Given the description of an element on the screen output the (x, y) to click on. 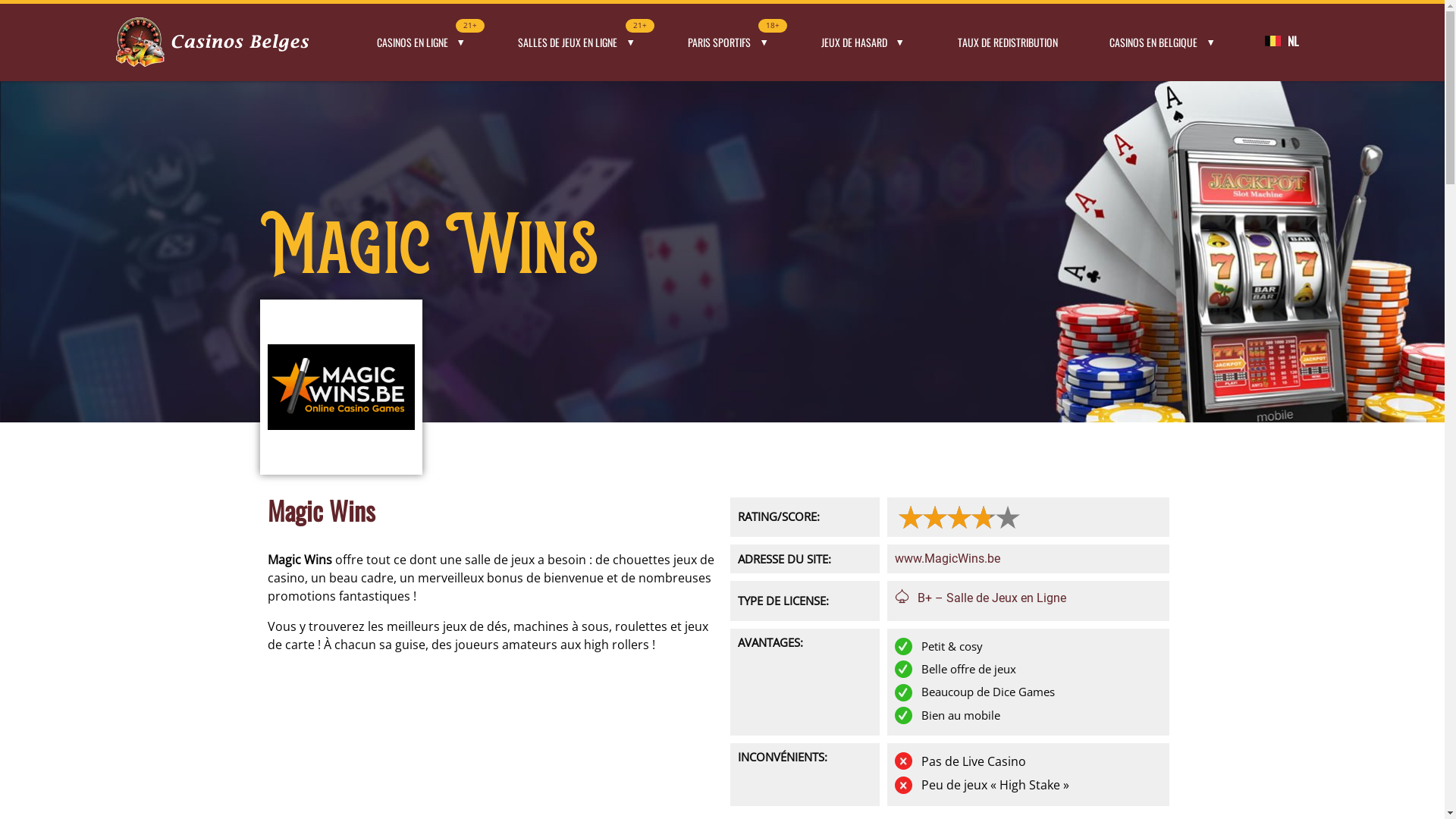
www.MagicWins.be Element type: text (947, 558)
JEUX DE HASARD Element type: text (862, 42)
CASINOS EN BELGIQUE Element type: text (1162, 42)
SALLES DE JEUX EN LIGNE
21+ Element type: text (577, 42)
Casinos Belges Element type: hover (212, 41)
PARIS SPORTIFS
18+ Element type: text (728, 42)
NL Element type: text (1292, 40)
CASINOS EN LIGNE
21+ Element type: text (421, 42)
TAUX DE REDISTRIBUTION Element type: text (1007, 42)
